Given the description of an element on the screen output the (x, y) to click on. 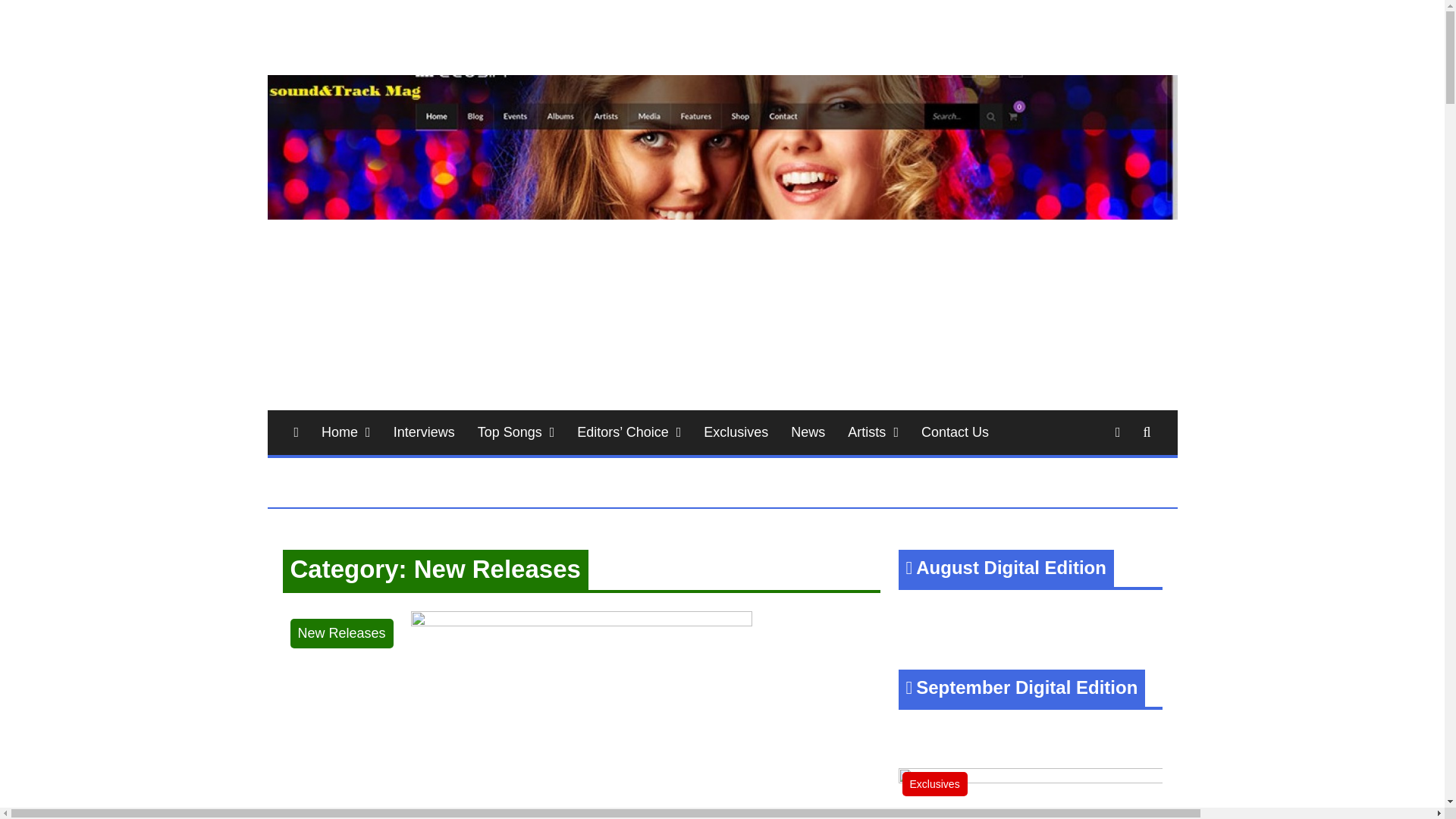
Artists (872, 432)
Top Songs (515, 432)
News (806, 432)
Interviews (423, 432)
Rumble Weed Tumble by Walter Black (581, 621)
SnT Mag (339, 72)
Contact Us (955, 432)
Home (345, 432)
Exclusives (735, 432)
